Given the description of an element on the screen output the (x, y) to click on. 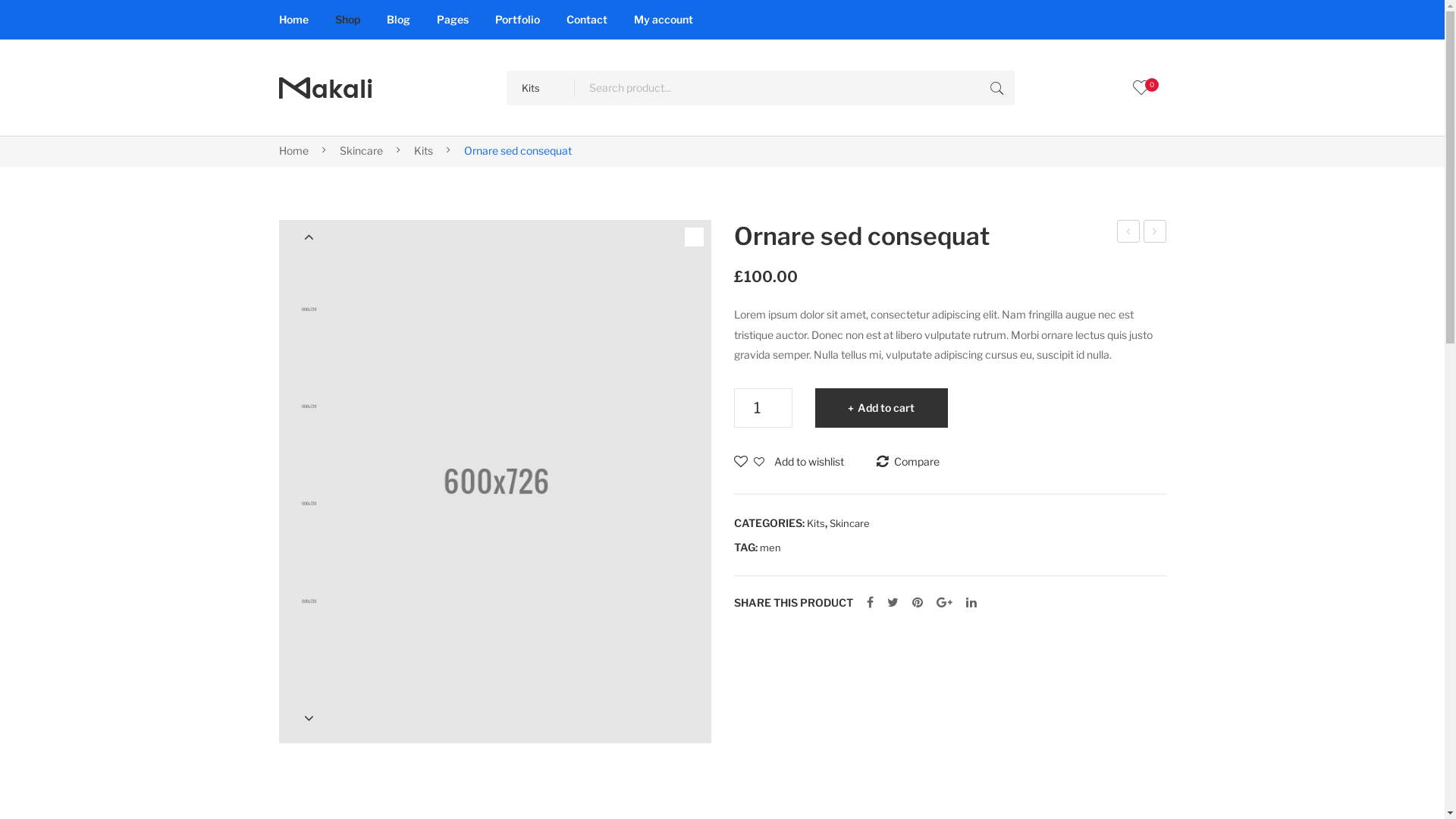
Skincare Element type: text (849, 523)
product01 Element type: hover (495, 481)
men Element type: text (770, 547)
My account Element type: text (663, 19)
0 Element type: text (1141, 87)
Add to wishlist Element type: text (789, 462)
Shop Element type: text (347, 19)
Portfolio Element type: text (516, 19)
product01 Element type: hover (308, 309)
Home Element type: text (293, 150)
product03 Element type: hover (308, 600)
Skincare Element type: text (360, 150)
Google + Element type: hover (943, 602)
Kits Element type: text (423, 150)
Qty Element type: hover (762, 407)
Facebook Element type: hover (869, 602)
Contact Element type: text (585, 19)
product02 Element type: hover (308, 503)
Twitter Element type: hover (892, 602)
Home Element type: text (293, 19)
Compare Element type: text (907, 462)
Add to cart Element type: text (880, 407)
Kits Element type: text (815, 523)
LinkedIn Element type: hover (971, 602)
Pages Element type: text (452, 19)
Sociis natoque Element type: text (1154, 230)
Pinterest Element type: hover (916, 602)
Blog Element type: text (398, 19)
Aliquam lobortis Element type: text (1127, 230)
Search Element type: text (996, 87)
product01 Element type: hover (308, 406)
